Given the description of an element on the screen output the (x, y) to click on. 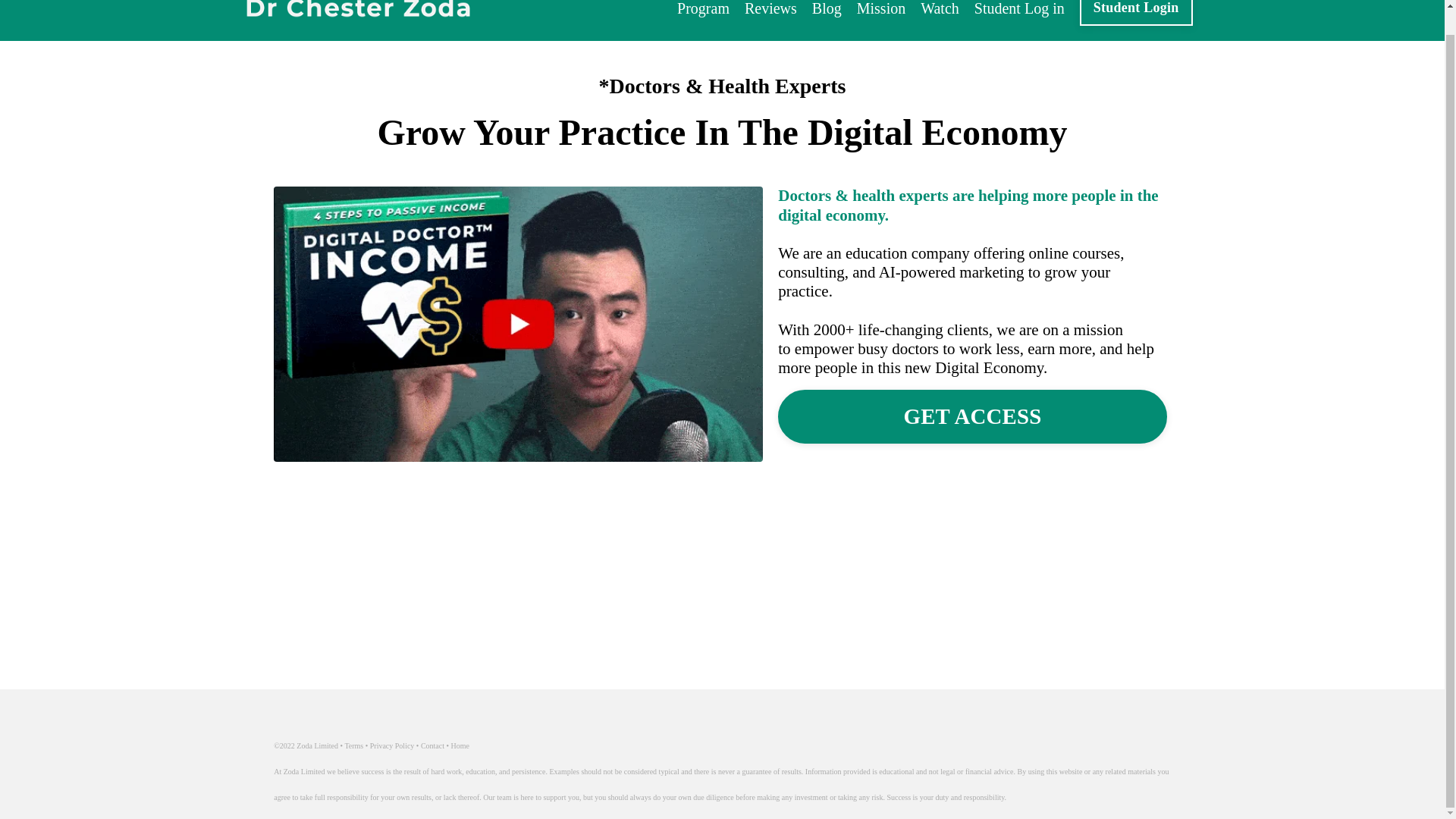
Student Login (1136, 12)
Program (703, 9)
Blog (826, 9)
Watch (939, 9)
Privacy Policy (391, 746)
Terms (352, 746)
Student Log in (1019, 9)
Contact (432, 746)
Mission (881, 9)
Reviews (770, 9)
